Given the description of an element on the screen output the (x, y) to click on. 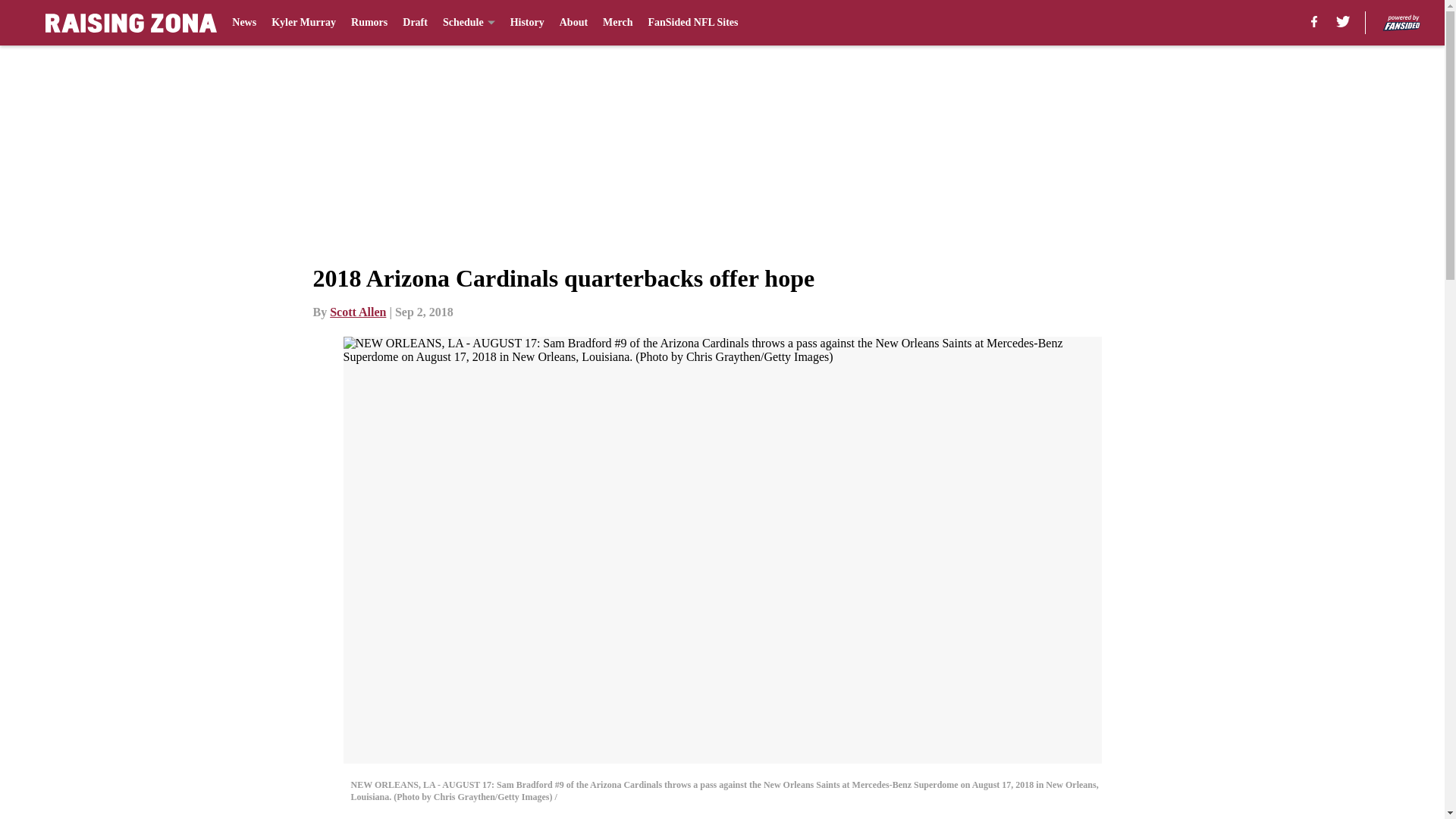
Rumors (368, 22)
Merch (616, 22)
History (527, 22)
Scott Allen (357, 311)
About (573, 22)
Kyler Murray (303, 22)
FanSided NFL Sites (692, 22)
Draft (415, 22)
News (243, 22)
